Given the description of an element on the screen output the (x, y) to click on. 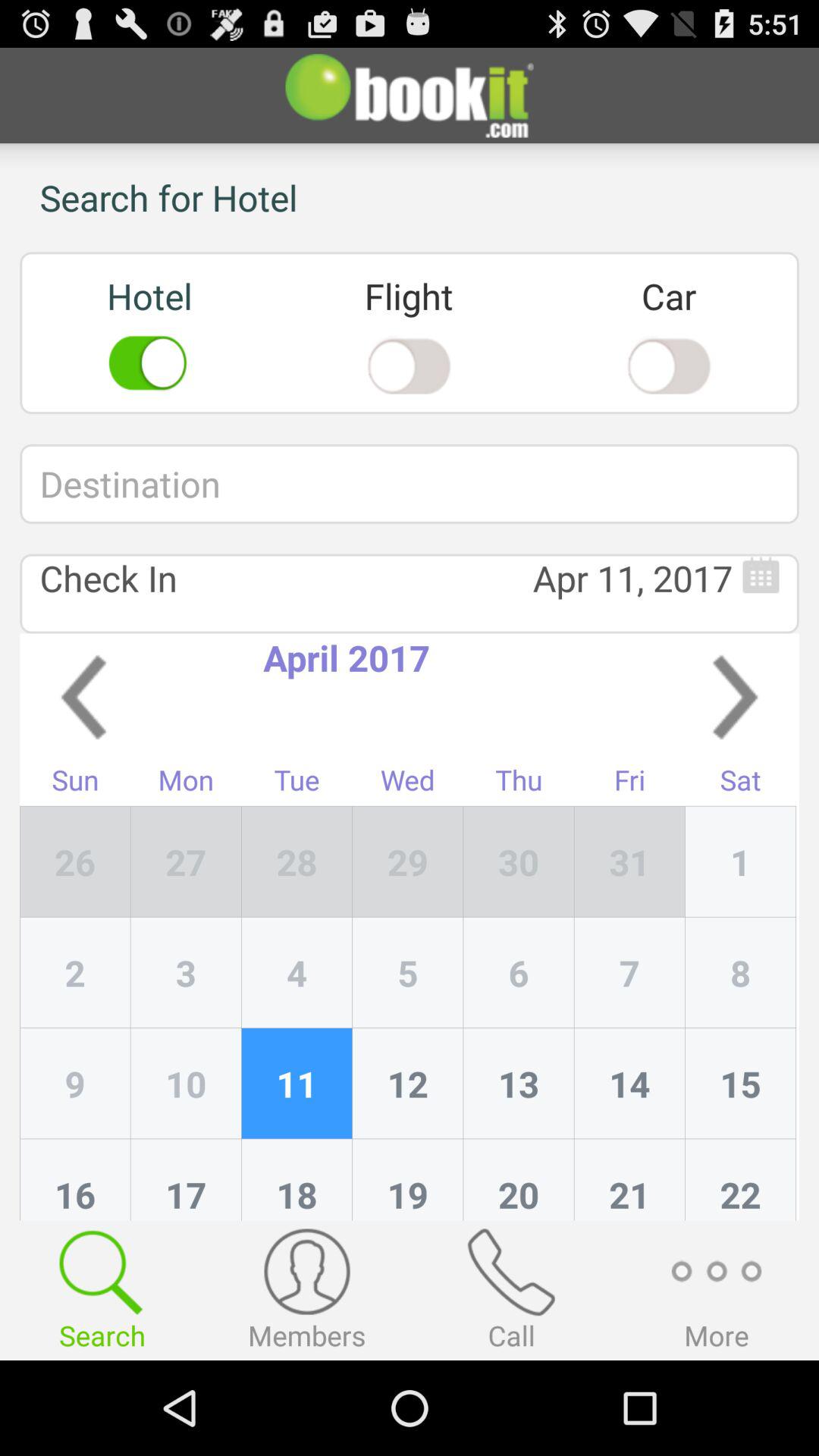
choose item above the search for hotel app (409, 95)
